Given the description of an element on the screen output the (x, y) to click on. 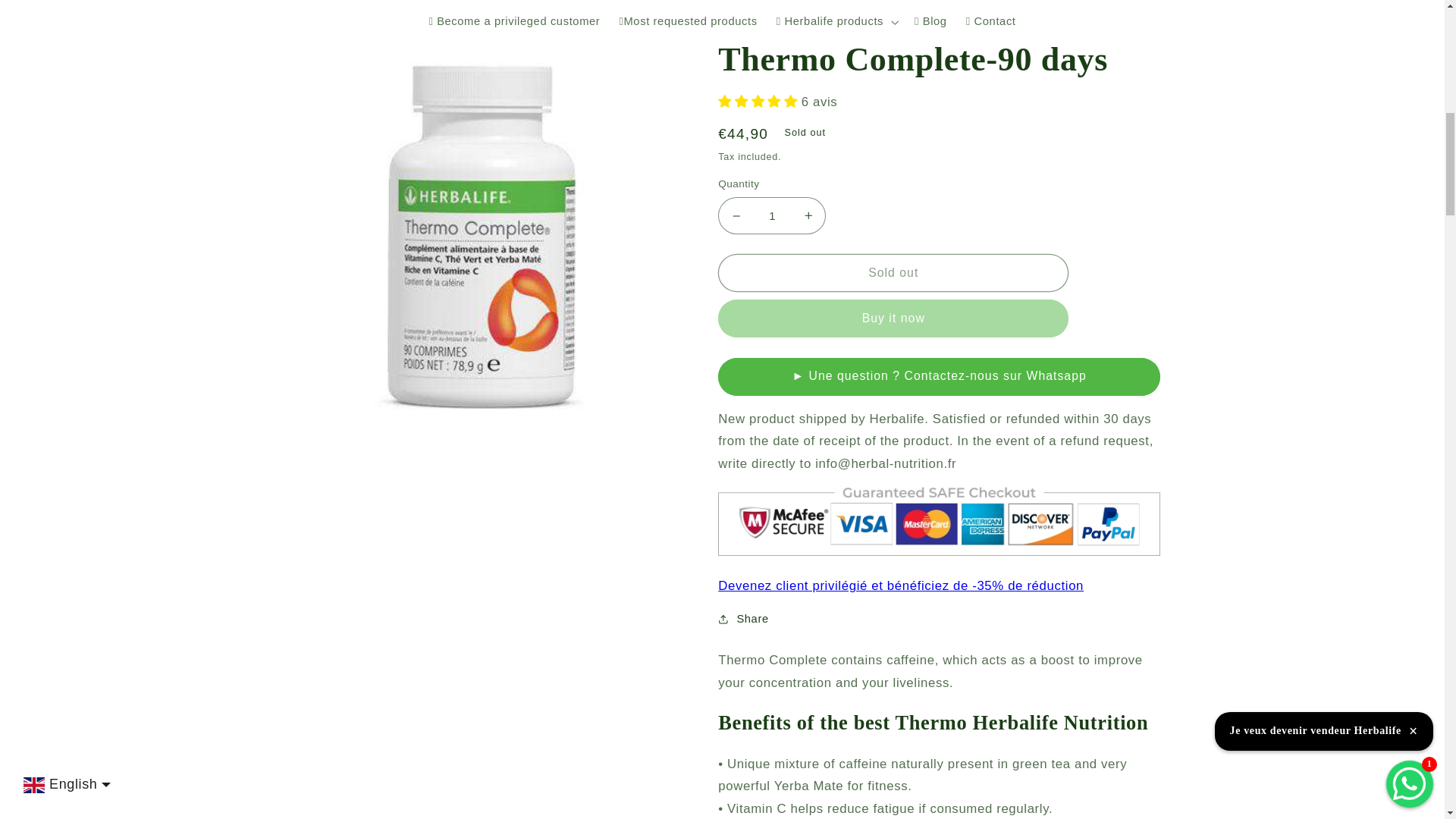
1 (771, 215)
